Given the description of an element on the screen output the (x, y) to click on. 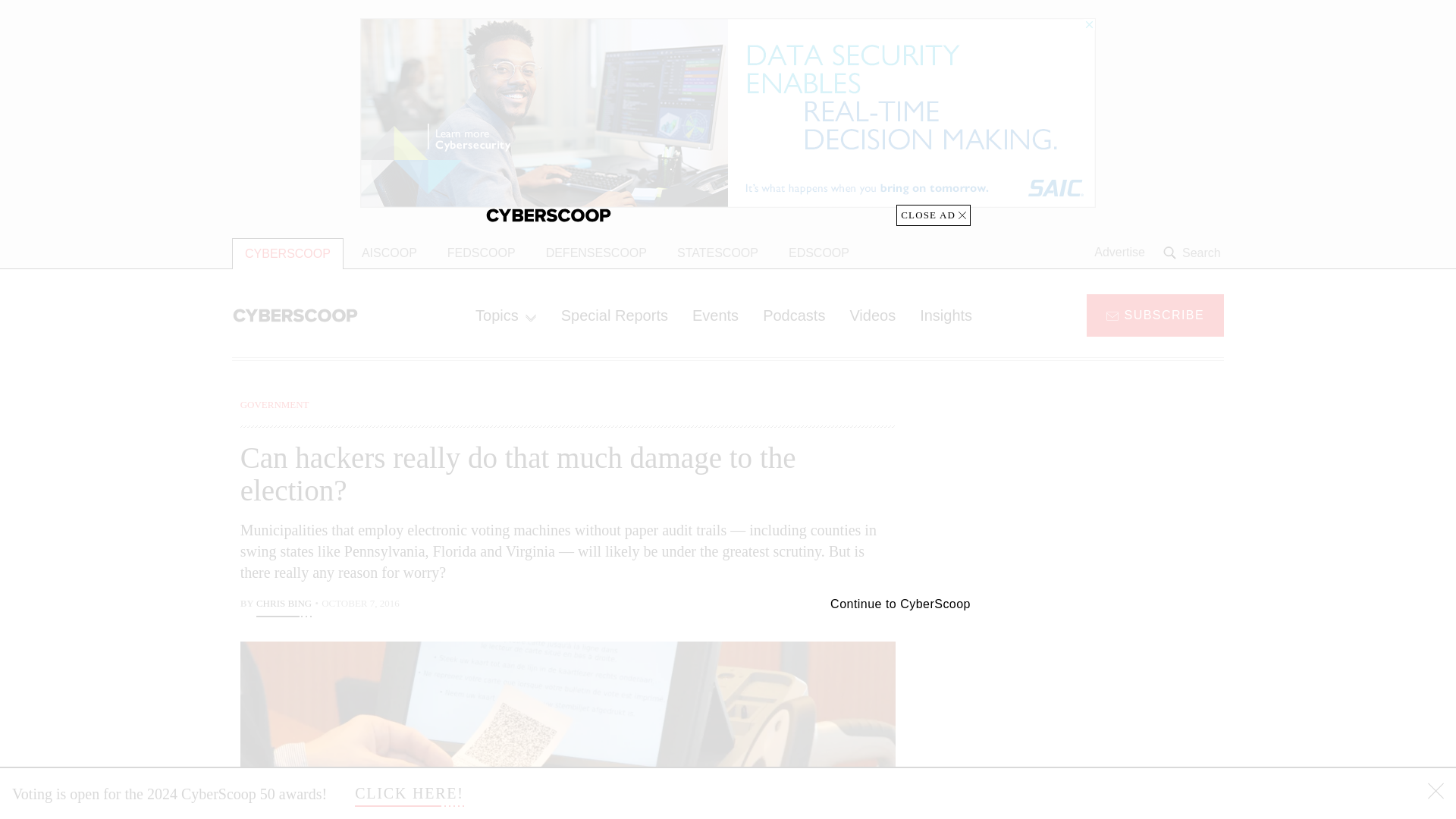
Videos (872, 315)
Special Reports (613, 315)
AISCOOP (389, 253)
Podcasts (794, 315)
3rd party ad content (1101, 492)
Events (715, 315)
3rd party ad content (1101, 714)
Chris Bing (283, 604)
Insights (945, 315)
EDSCOOP (818, 253)
CYBERSCOOP (287, 253)
Search (1193, 252)
